Given the description of an element on the screen output the (x, y) to click on. 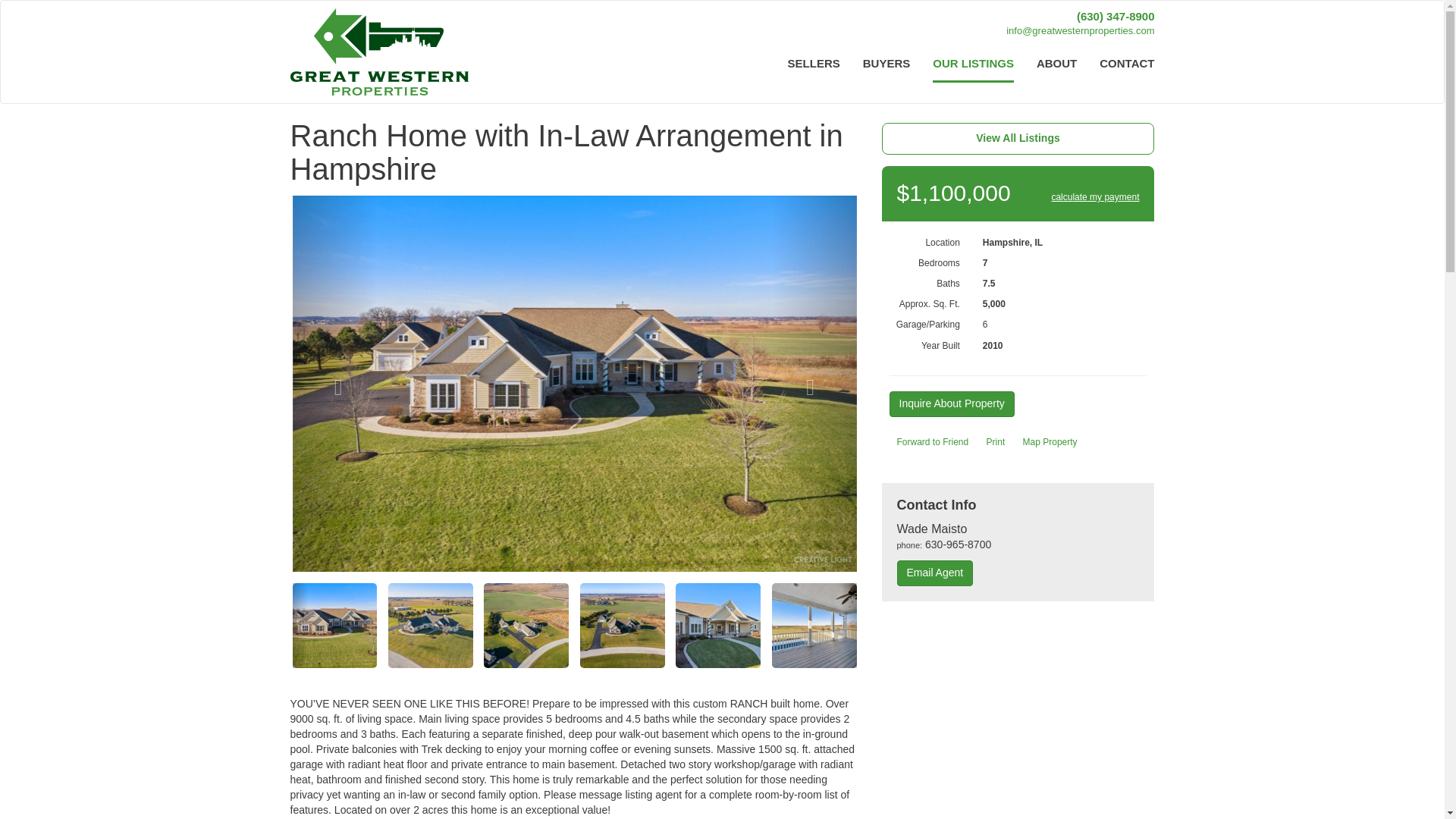
CONTACT (1120, 63)
Contact (1120, 63)
BUYERS (886, 63)
SELLERS (813, 63)
Sellers (813, 63)
ABOUT (1056, 63)
About (1056, 63)
Buyers (886, 63)
Our Listings (973, 63)
OUR LISTINGS (973, 63)
